Given the description of an element on the screen output the (x, y) to click on. 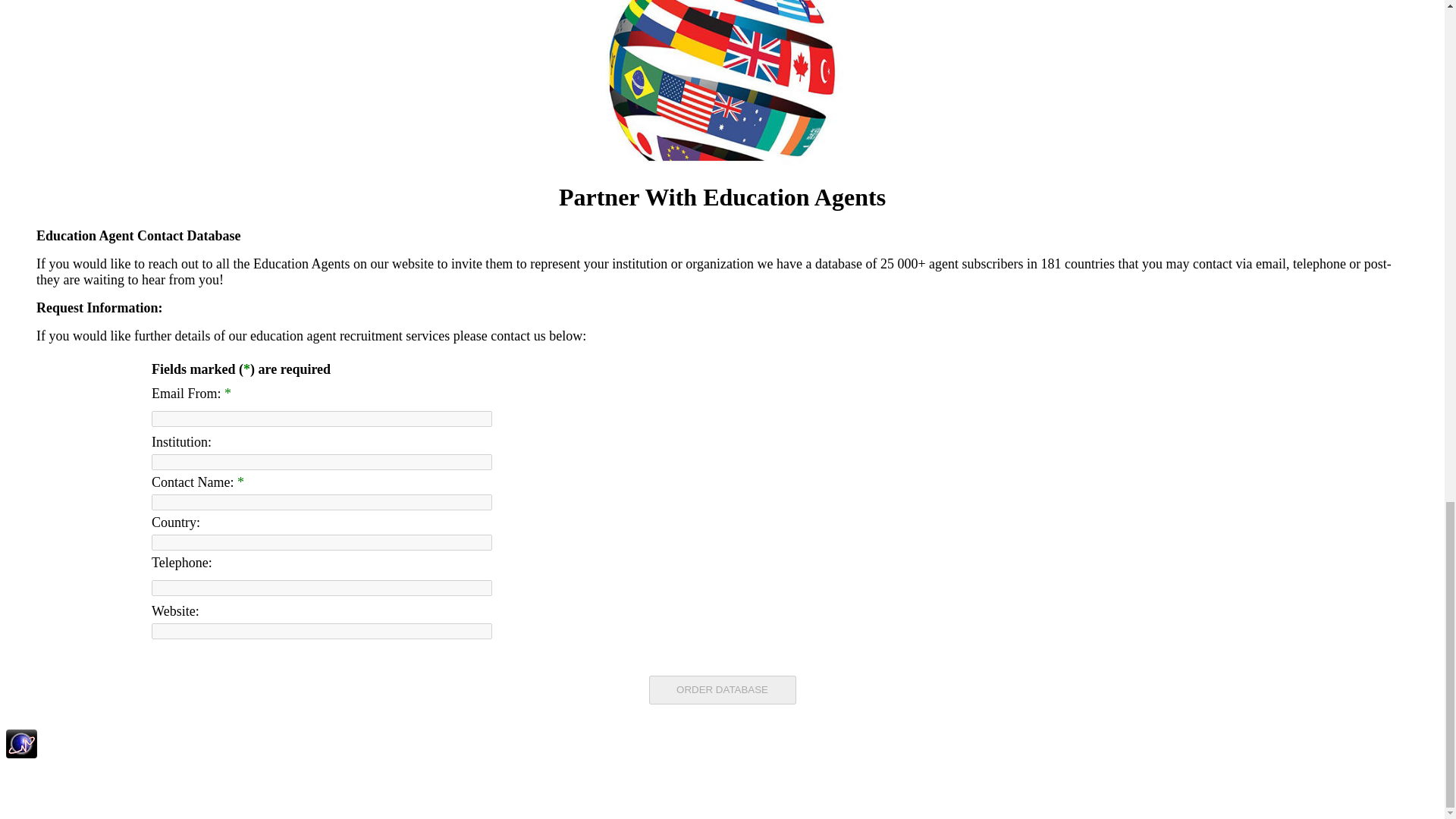
eXTReMe Tracker - Free Website Statistics (21, 753)
ORDER DATABASE (722, 689)
